Given the description of an element on the screen output the (x, y) to click on. 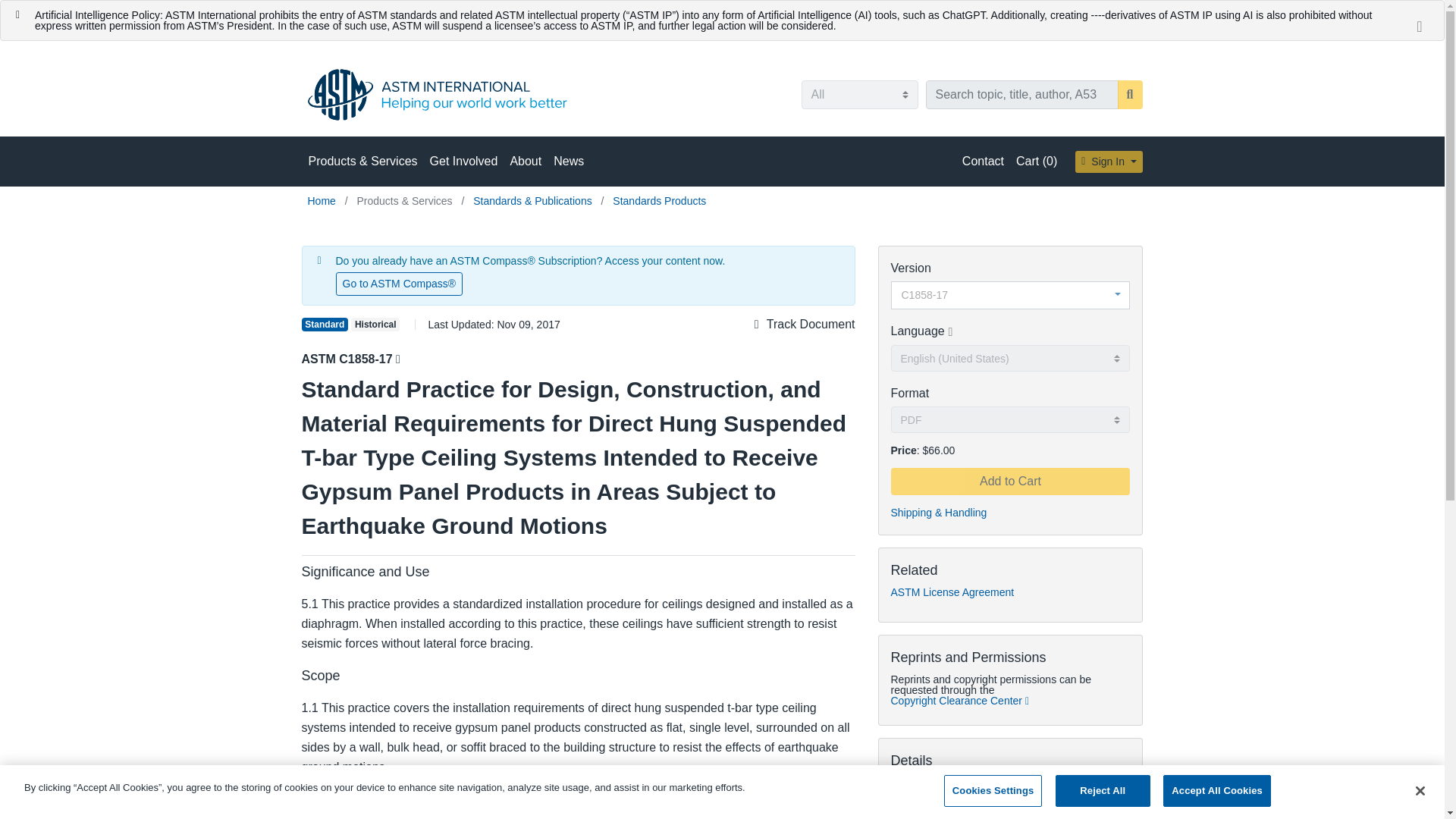
All (858, 94)
Go to Home Page (323, 200)
Add to Cart (1009, 481)
Search (1130, 94)
